Given the description of an element on the screen output the (x, y) to click on. 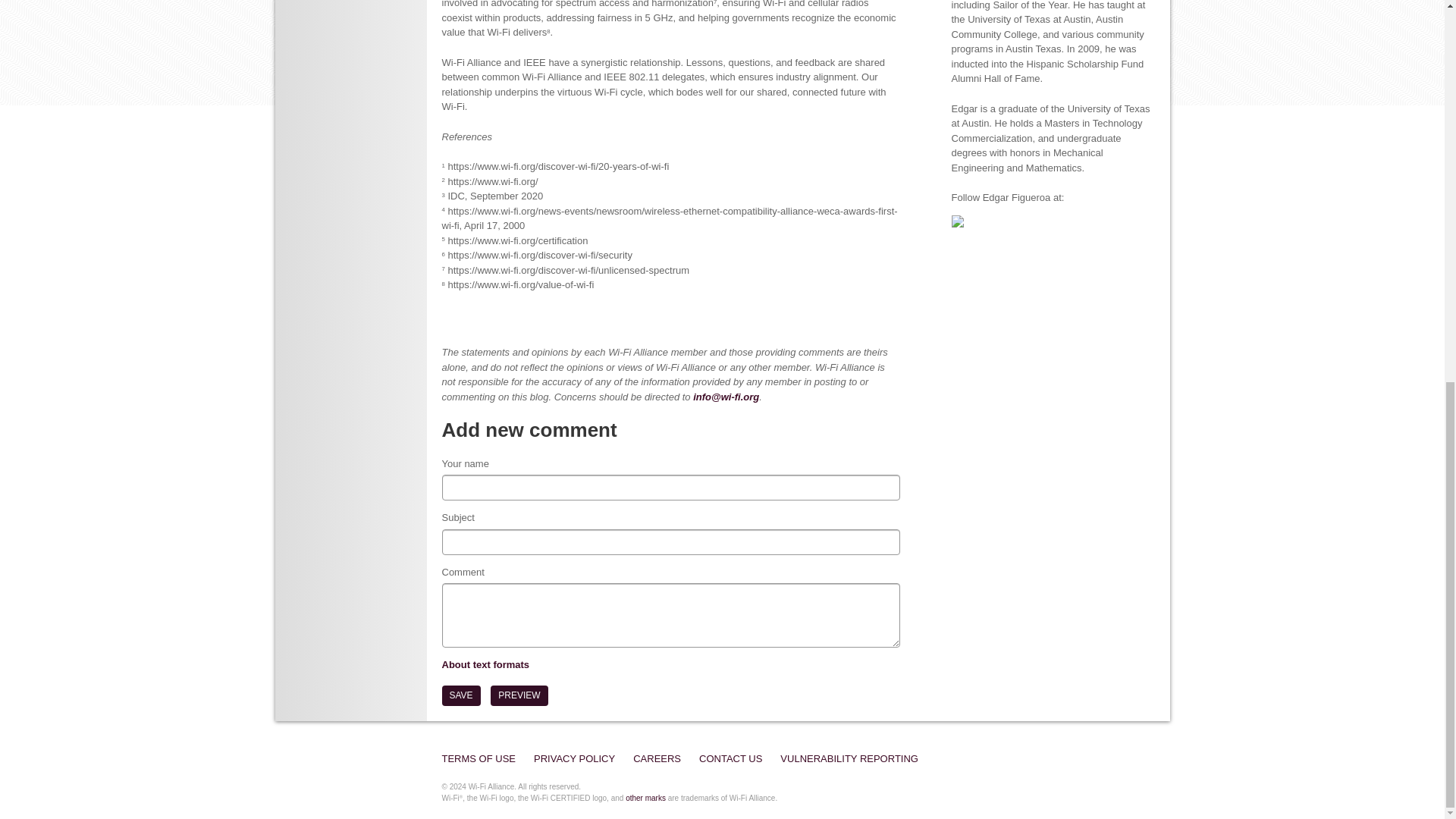
Save (460, 695)
Preview (518, 695)
